Given the description of an element on the screen output the (x, y) to click on. 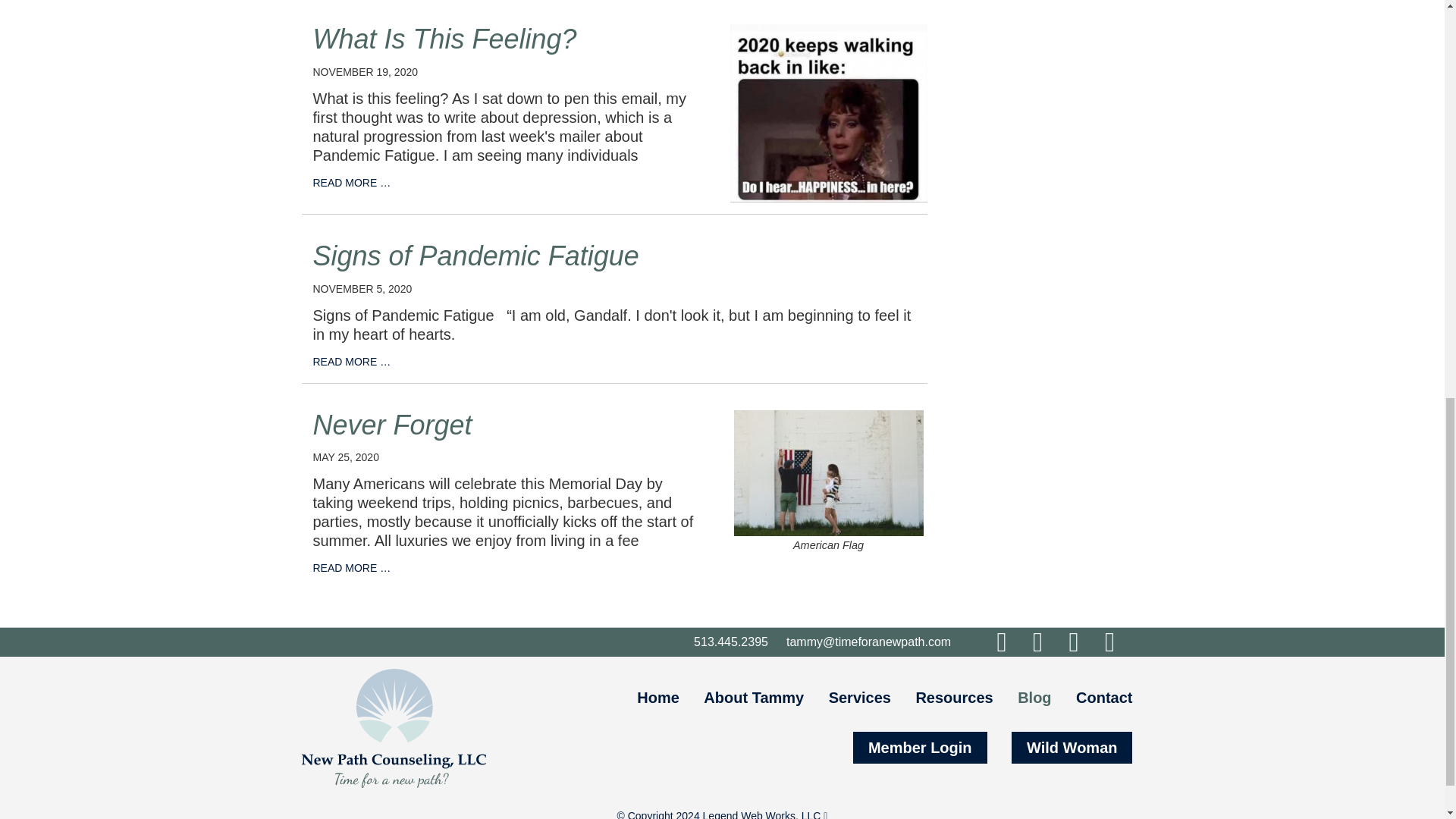
visit our Instagram page (1038, 642)
visit our facebook page (1001, 642)
visit our LinkedIn page (1073, 642)
visit our YouTube page (1110, 642)
